Given the description of an element on the screen output the (x, y) to click on. 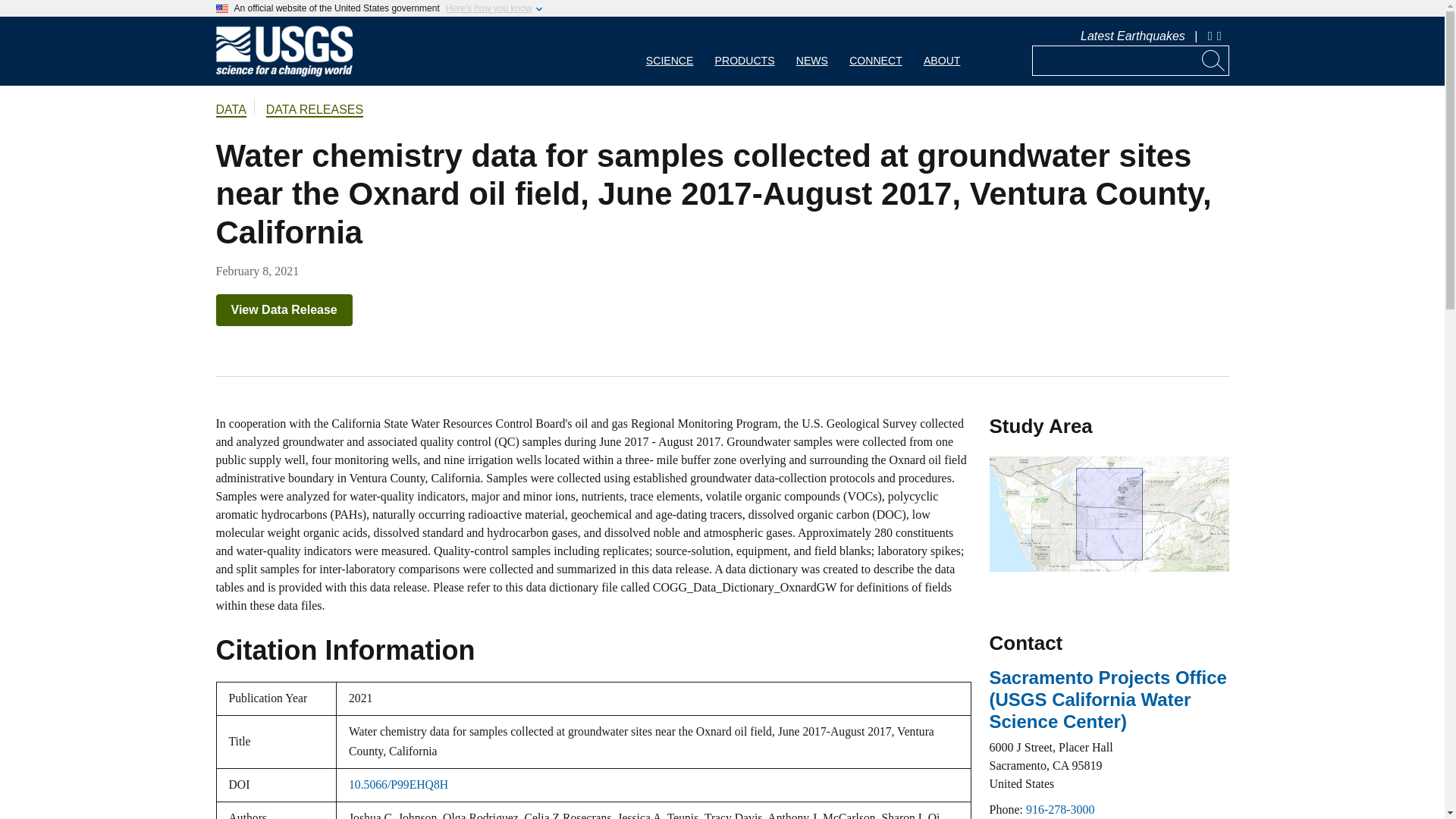
DATA (230, 110)
CONNECT (875, 50)
Home (283, 72)
View Data Release (283, 309)
Latest Earthquakes (1132, 35)
DATA RELEASES (314, 110)
ABOUT (941, 50)
PRODUCTS (745, 50)
NEWS (812, 50)
Here's how you know (488, 8)
SCIENCE (669, 50)
Share Social Media (1220, 36)
